Given the description of an element on the screen output the (x, y) to click on. 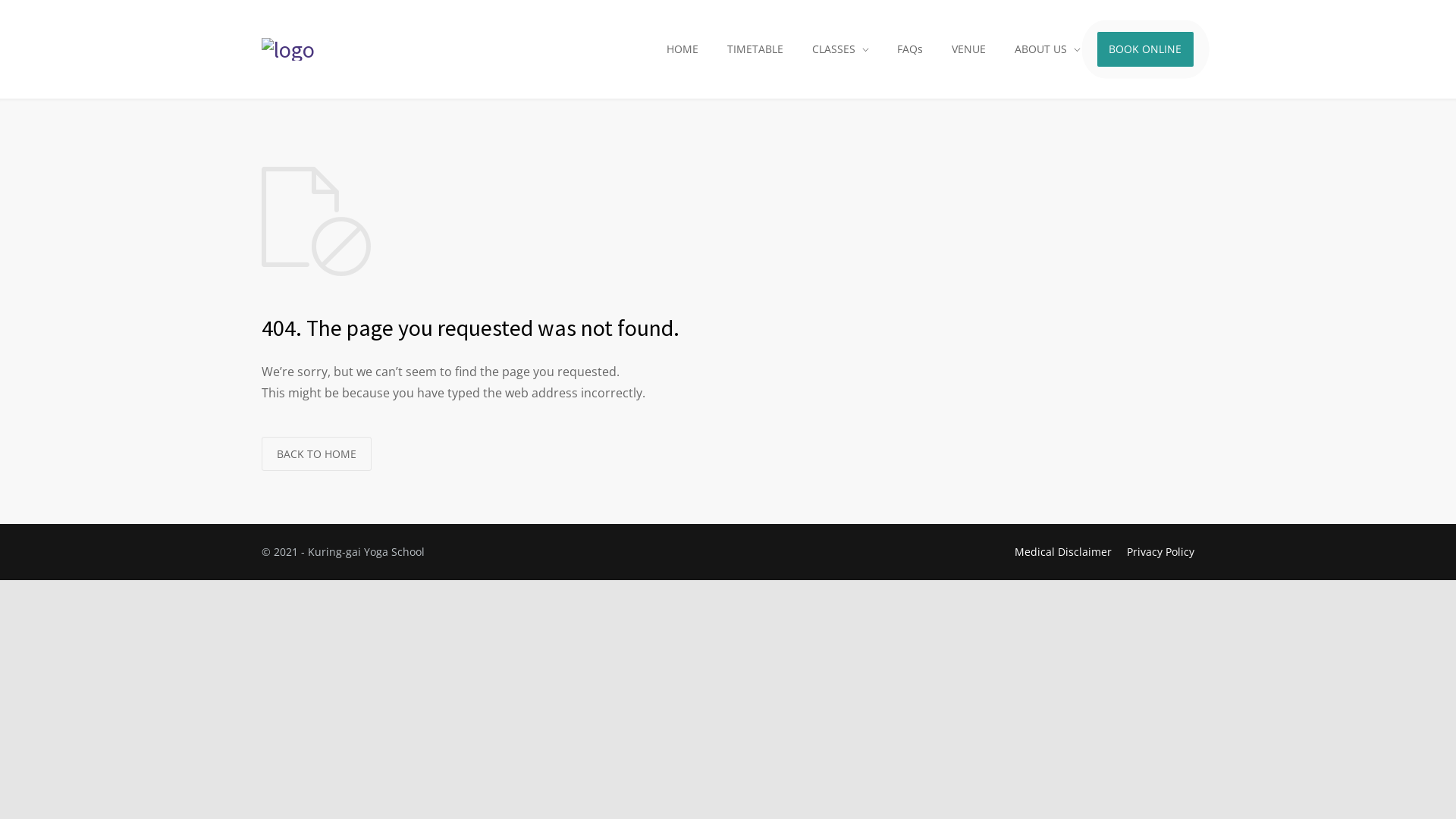
BOOK ONLINE Element type: text (1145, 49)
HOME Element type: text (682, 49)
BACK TO HOME Element type: text (316, 453)
ABOUT US Element type: text (1047, 49)
CLASSES Element type: text (840, 49)
Privacy Policy Element type: text (1160, 551)
VENUE Element type: text (968, 49)
TIMETABLE Element type: text (755, 49)
FAQs Element type: text (909, 49)
Medical Disclaimer Element type: text (1062, 551)
